Given the description of an element on the screen output the (x, y) to click on. 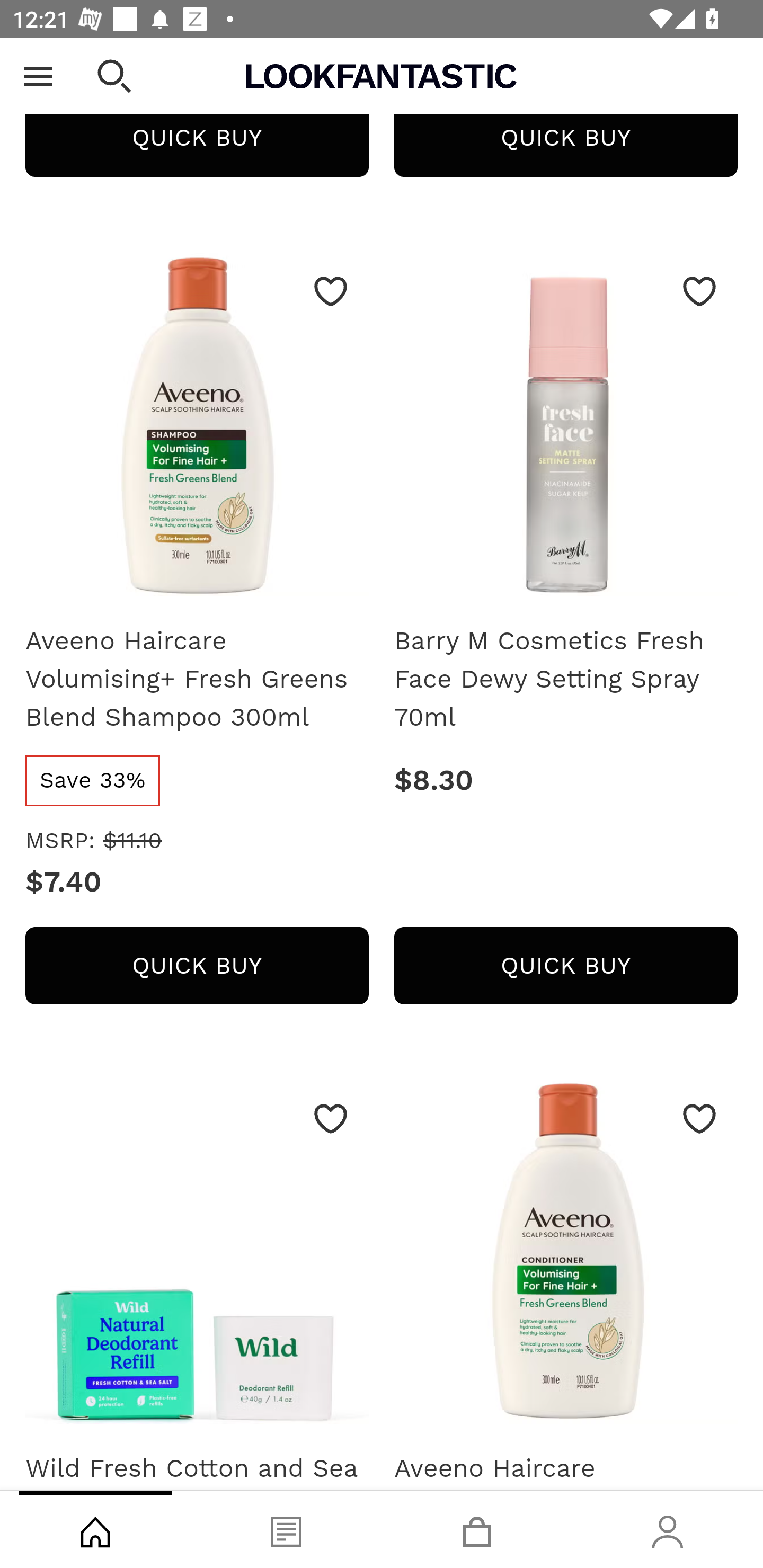
Save to Wishlist (330, 291)
Save to Wishlist (698, 291)
Save 33%, read more (92, 780)
Price: $8.30 (565, 780)
Save to Wishlist (330, 1119)
Save to Wishlist (698, 1119)
Shop, tab, 1 of 4 (95, 1529)
Blog, tab, 2 of 4 (285, 1529)
Basket, tab, 3 of 4 (476, 1529)
Account, tab, 4 of 4 (667, 1529)
